Given the description of an element on the screen output the (x, y) to click on. 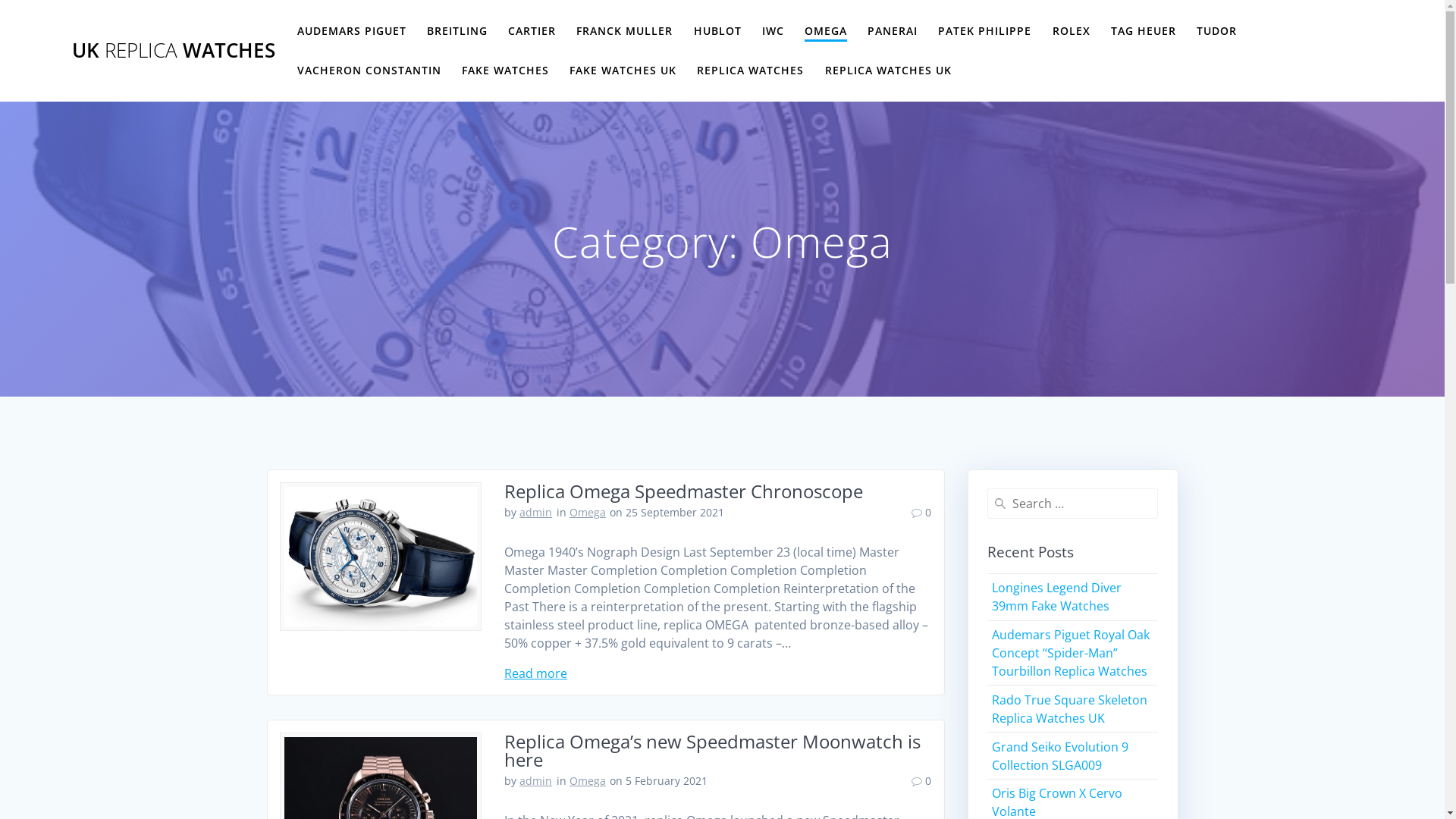
Replica Omega Speedmaster Chronoscope Element type: text (683, 490)
Skip to content Element type: text (0, 0)
Omega Element type: text (587, 780)
FAKE WATCHES UK Element type: text (622, 70)
Grand Seiko Evolution 9 Collection SLGA009 Element type: text (1059, 755)
ROLEX Element type: text (1071, 30)
Read more Element type: text (535, 673)
PANERAI Element type: text (892, 30)
REPLICA WATCHES UK Element type: text (888, 70)
REPLICA WATCHES Element type: text (749, 70)
TUDOR Element type: text (1216, 30)
Rado True Square Skeleton Replica Watches UK Element type: text (1069, 708)
admin Element type: text (535, 780)
AUDEMARS PIGUET Element type: text (351, 30)
admin Element type: text (535, 512)
Longines Legend Diver 39mm Fake Watches Element type: text (1056, 596)
HUBLOT Element type: text (717, 30)
VACHERON CONSTANTIN Element type: text (369, 70)
Omega Element type: text (587, 512)
CARTIER Element type: text (531, 30)
TAG HEUER Element type: text (1143, 30)
FRANCK MULLER Element type: text (624, 30)
BREITLING Element type: text (456, 30)
IWC Element type: text (773, 30)
UK REPLICA WATCHES Element type: text (173, 50)
PATEK PHILIPPE Element type: text (984, 30)
OMEGA Element type: text (825, 31)
FAKE WATCHES Element type: text (505, 70)
